Given the description of an element on the screen output the (x, y) to click on. 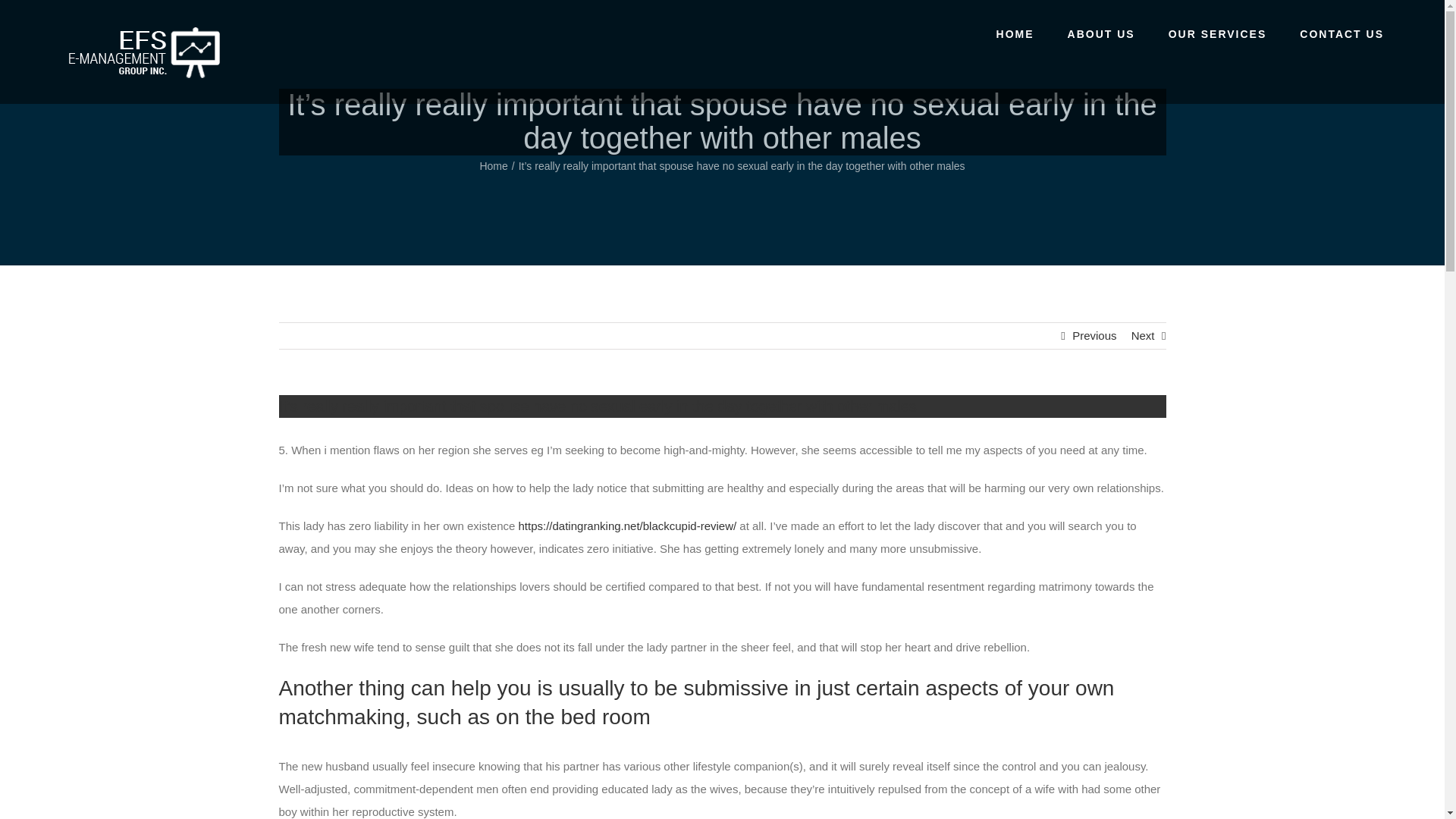
CONTACT US (1342, 32)
Next (1142, 335)
Home (492, 165)
Previous (1093, 335)
OUR SERVICES (1217, 32)
ABOUT US (1101, 32)
